Given the description of an element on the screen output the (x, y) to click on. 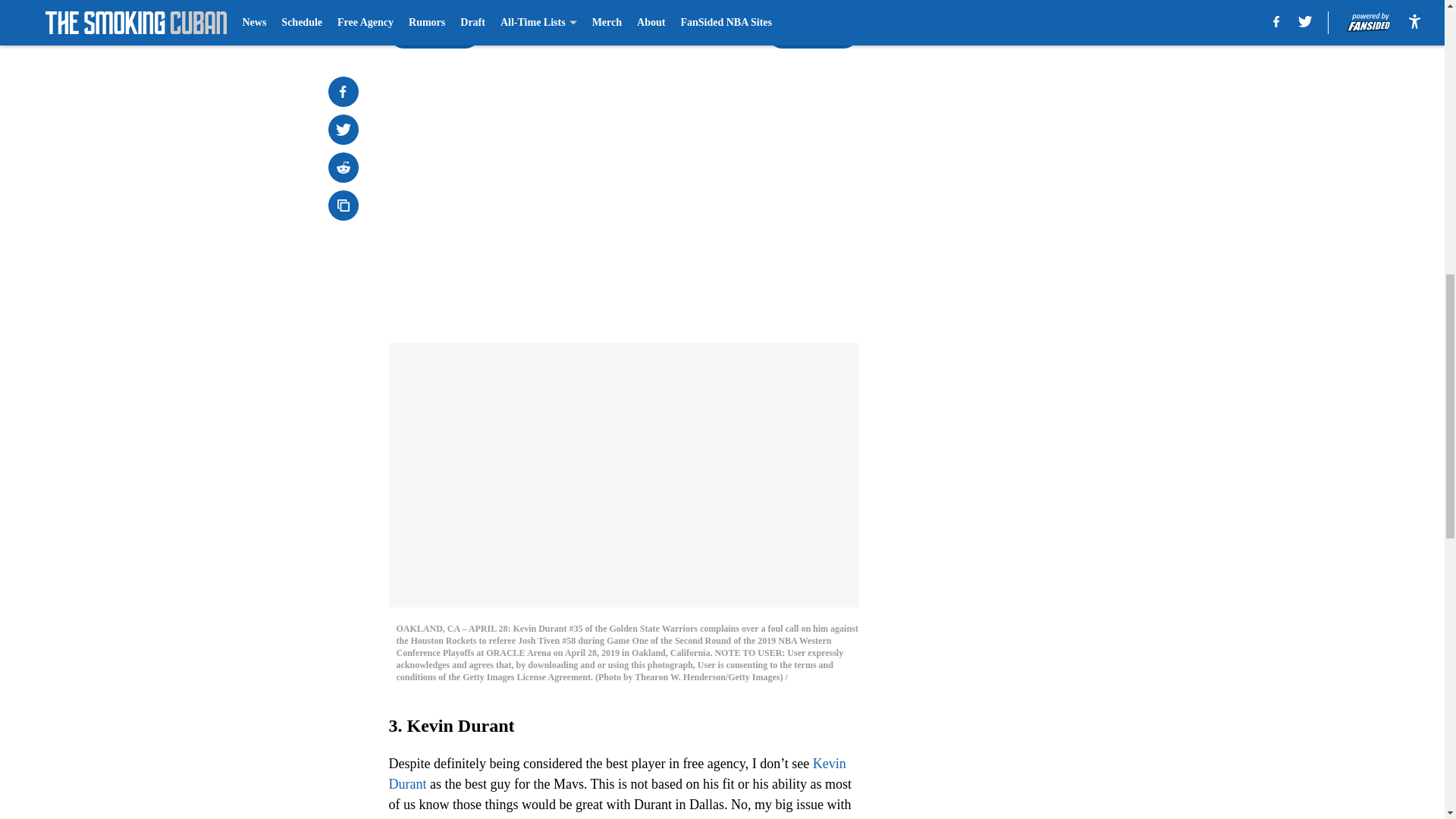
Prev (433, 33)
Kevin Durant (616, 773)
Next (813, 33)
